Given the description of an element on the screen output the (x, y) to click on. 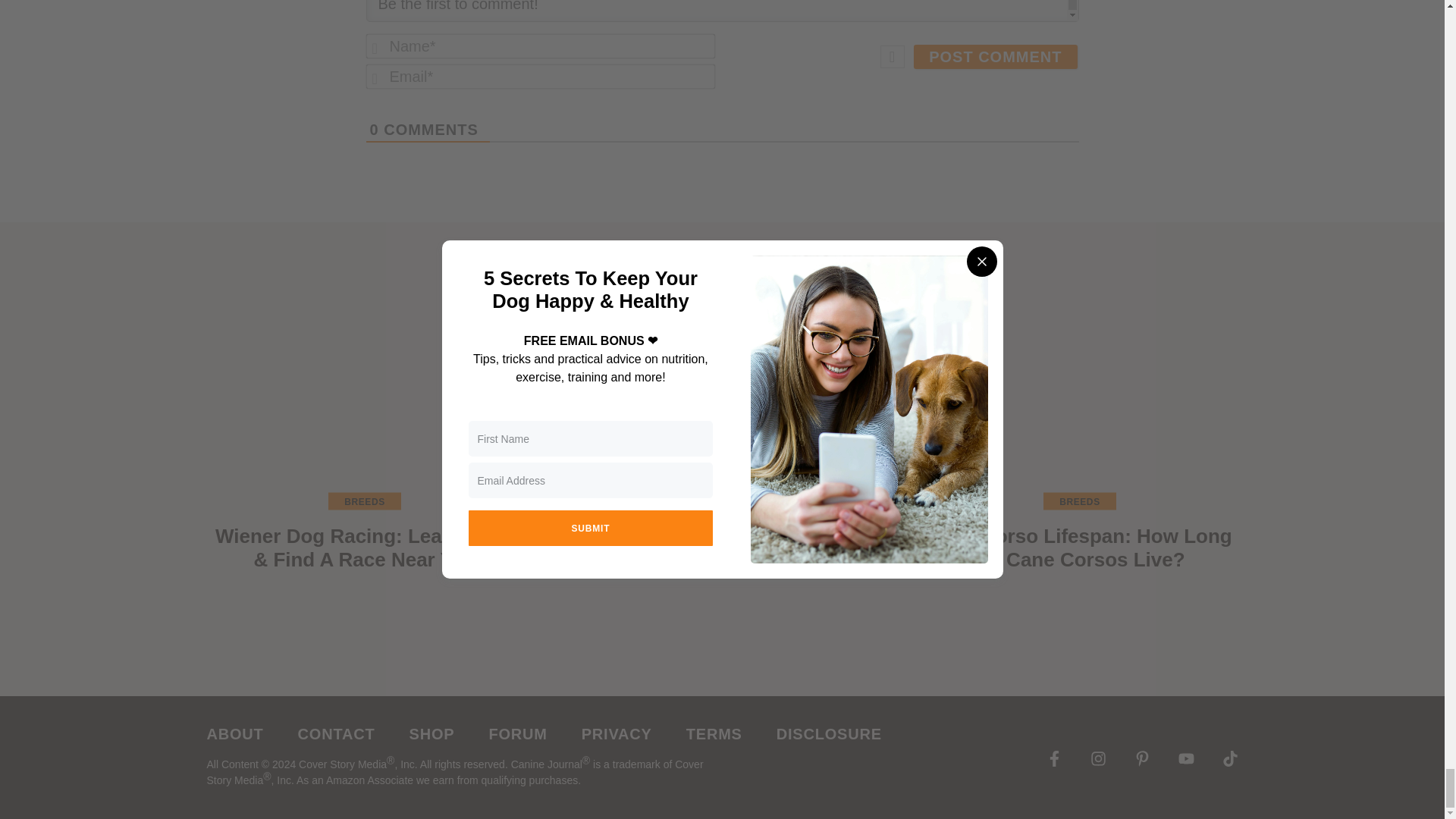
Post Comment (995, 56)
